Given the description of an element on the screen output the (x, y) to click on. 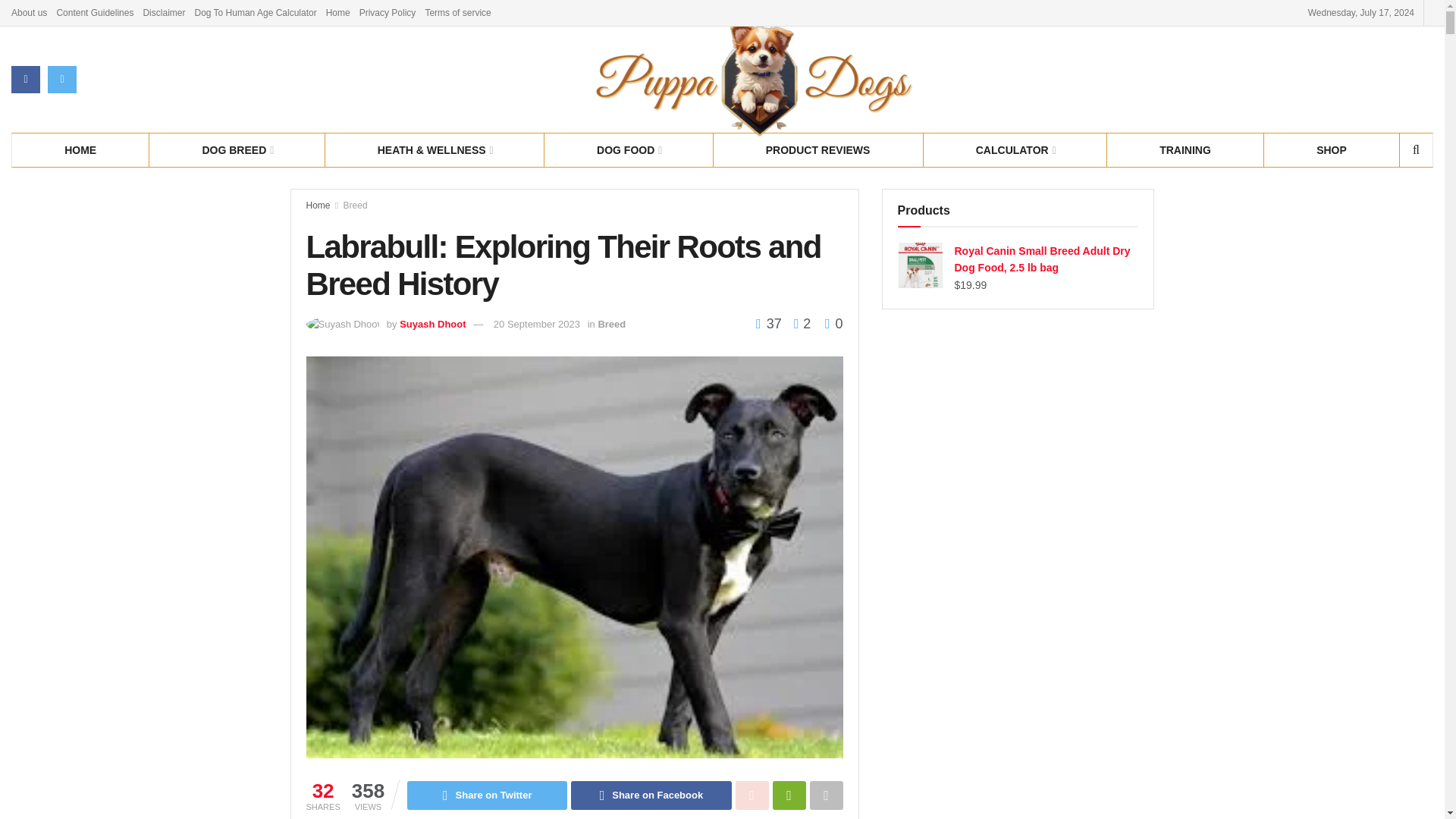
Disclaimer (163, 12)
DOG BREED (236, 149)
HOME (80, 149)
Terms of service (457, 12)
Privacy Policy (387, 12)
Dog To Human Age Calculator (254, 12)
Content Guidelines (94, 12)
Home (338, 12)
About us (28, 12)
